Given the description of an element on the screen output the (x, y) to click on. 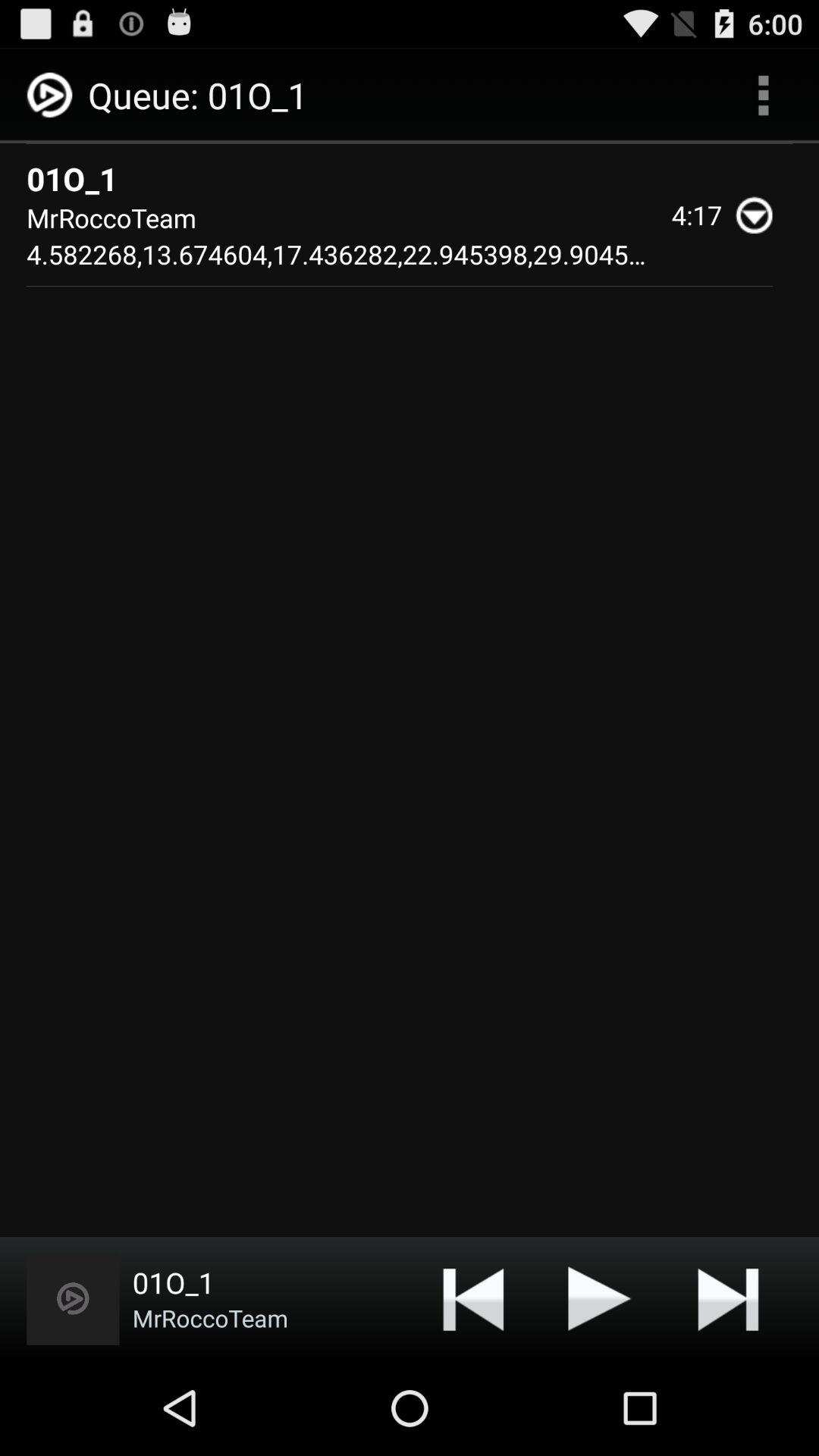
select app below mrroccoteam 4 582268 icon (72, 1298)
